Given the description of an element on the screen output the (x, y) to click on. 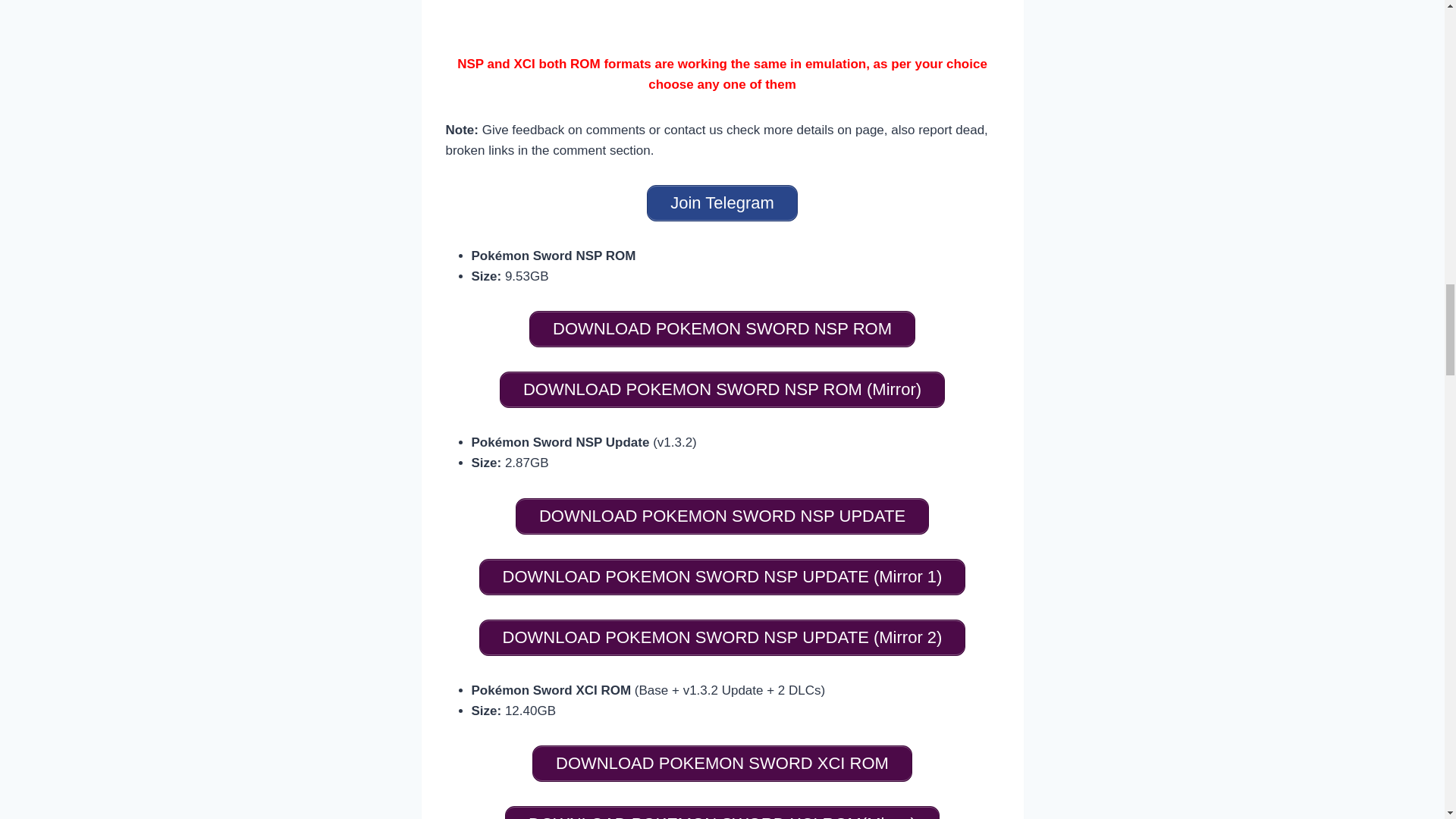
DOWNLOAD POKEMON SWORD NSP ROM (722, 329)
DOWNLOAD POKEMON SWORD NSP UPDATE (721, 515)
DOWNLOAD POKEMON SWORD XCI ROM (722, 763)
Join Telegram (721, 203)
